Given the description of an element on the screen output the (x, y) to click on. 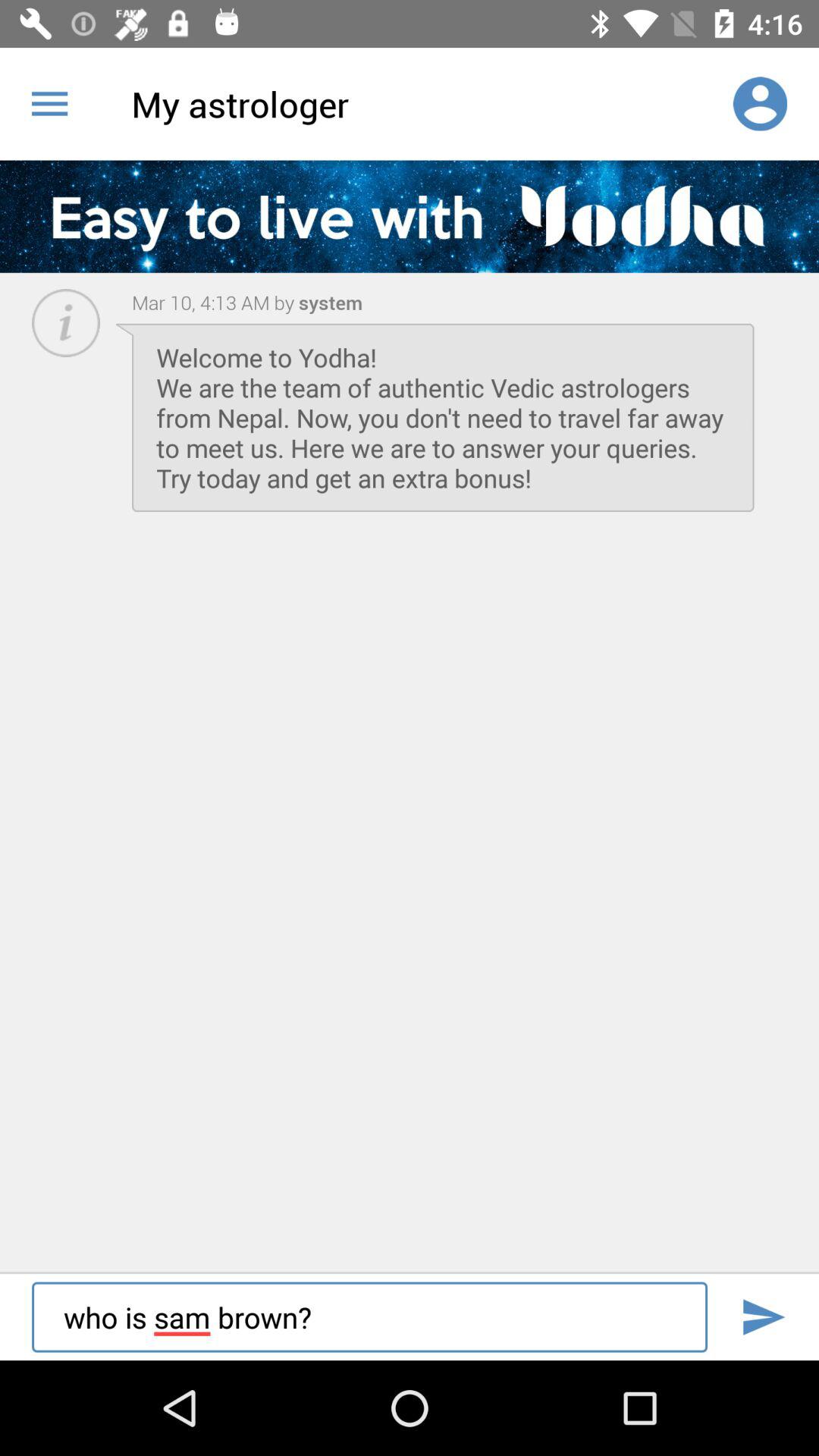
flip until system (328, 301)
